Given the description of an element on the screen output the (x, y) to click on. 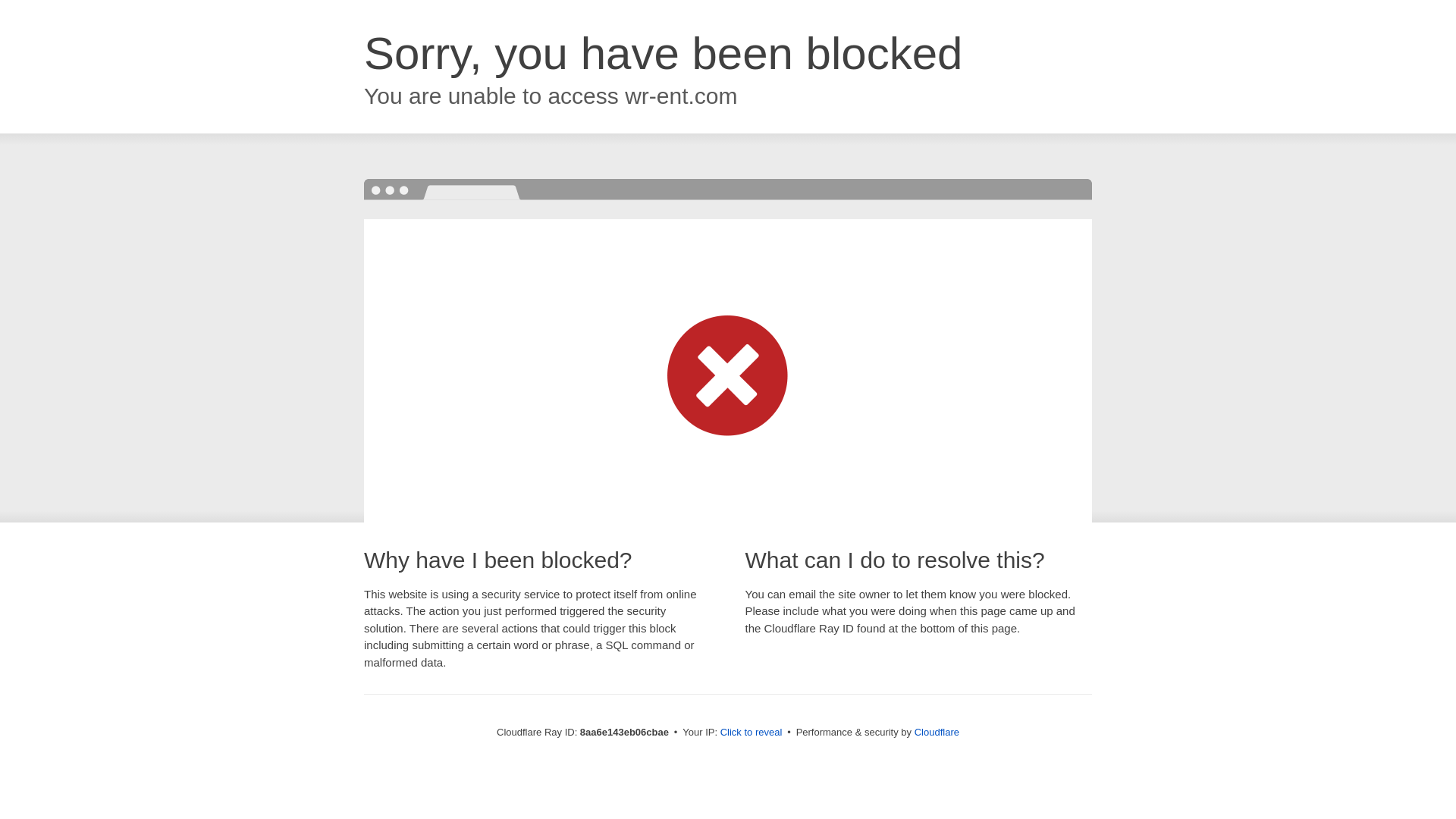
Cloudflare (936, 731)
Click to reveal (751, 732)
